Given the description of an element on the screen output the (x, y) to click on. 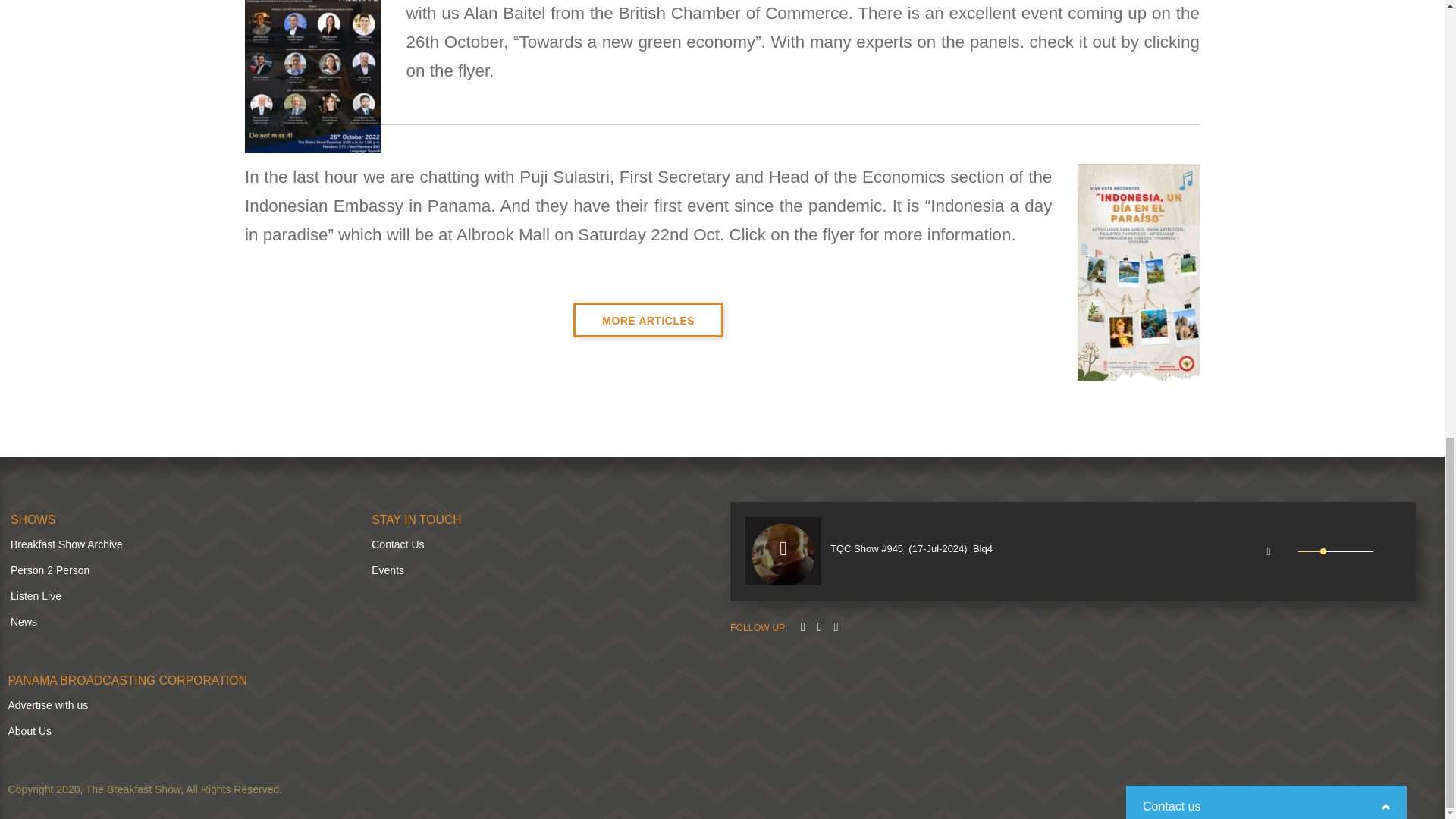
Listen Live (35, 595)
MORE ARTICLES (648, 319)
About Us (28, 730)
Events (387, 570)
Breakfast Show Archive (66, 544)
Person 2 Person (49, 570)
Contact Us (397, 544)
News (23, 621)
Advertise with us (47, 705)
